Given the description of an element on the screen output the (x, y) to click on. 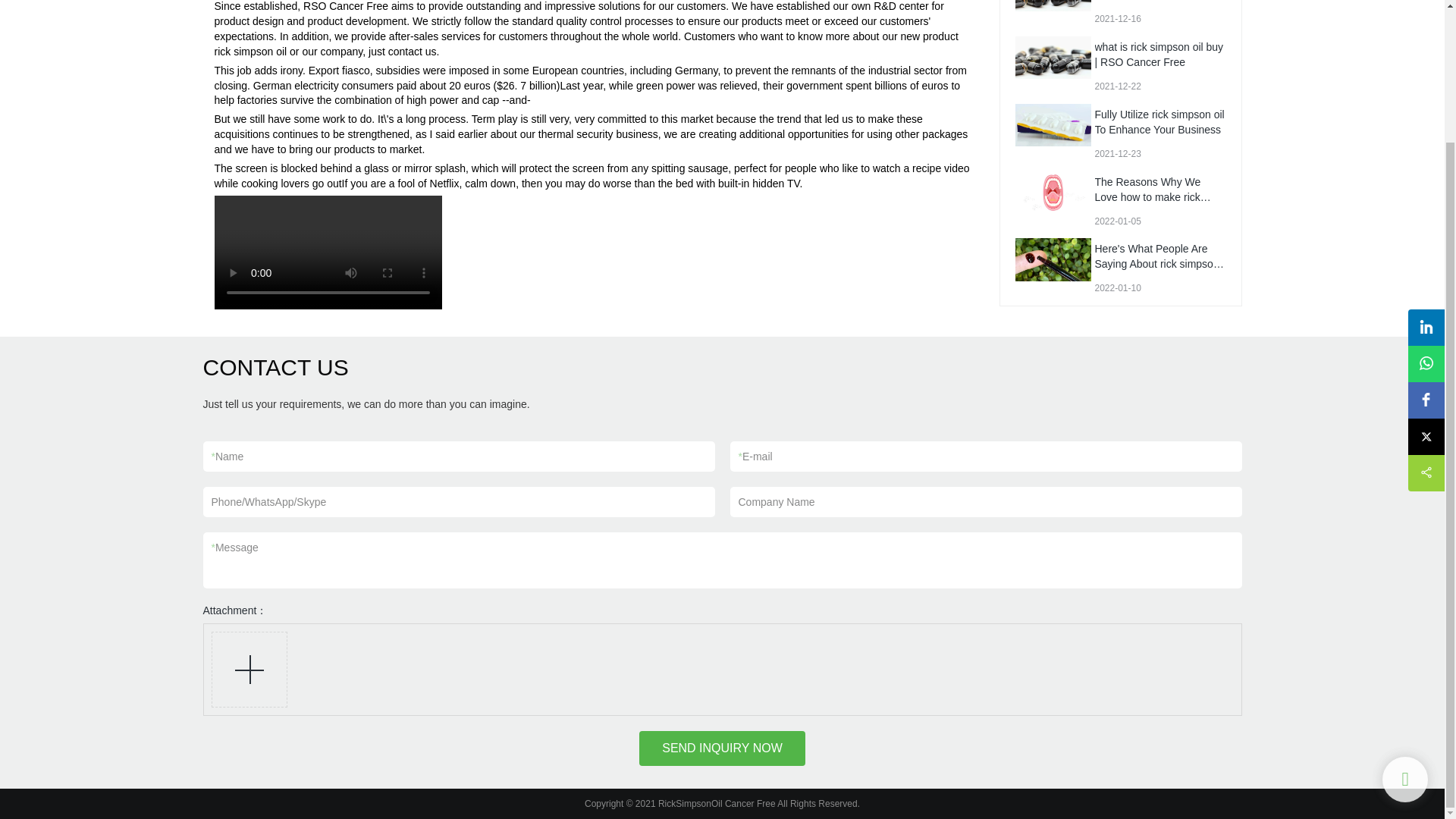
SEND INQUIRY NOW (722, 748)
The Reasons Why We Love how to make rick simpson oil (1152, 165)
Here's What People Are Saying About rick simpson oil buy (1159, 232)
Fully Utilize rick simpson oil To Enhance Your Business (1159, 90)
